Given the description of an element on the screen output the (x, y) to click on. 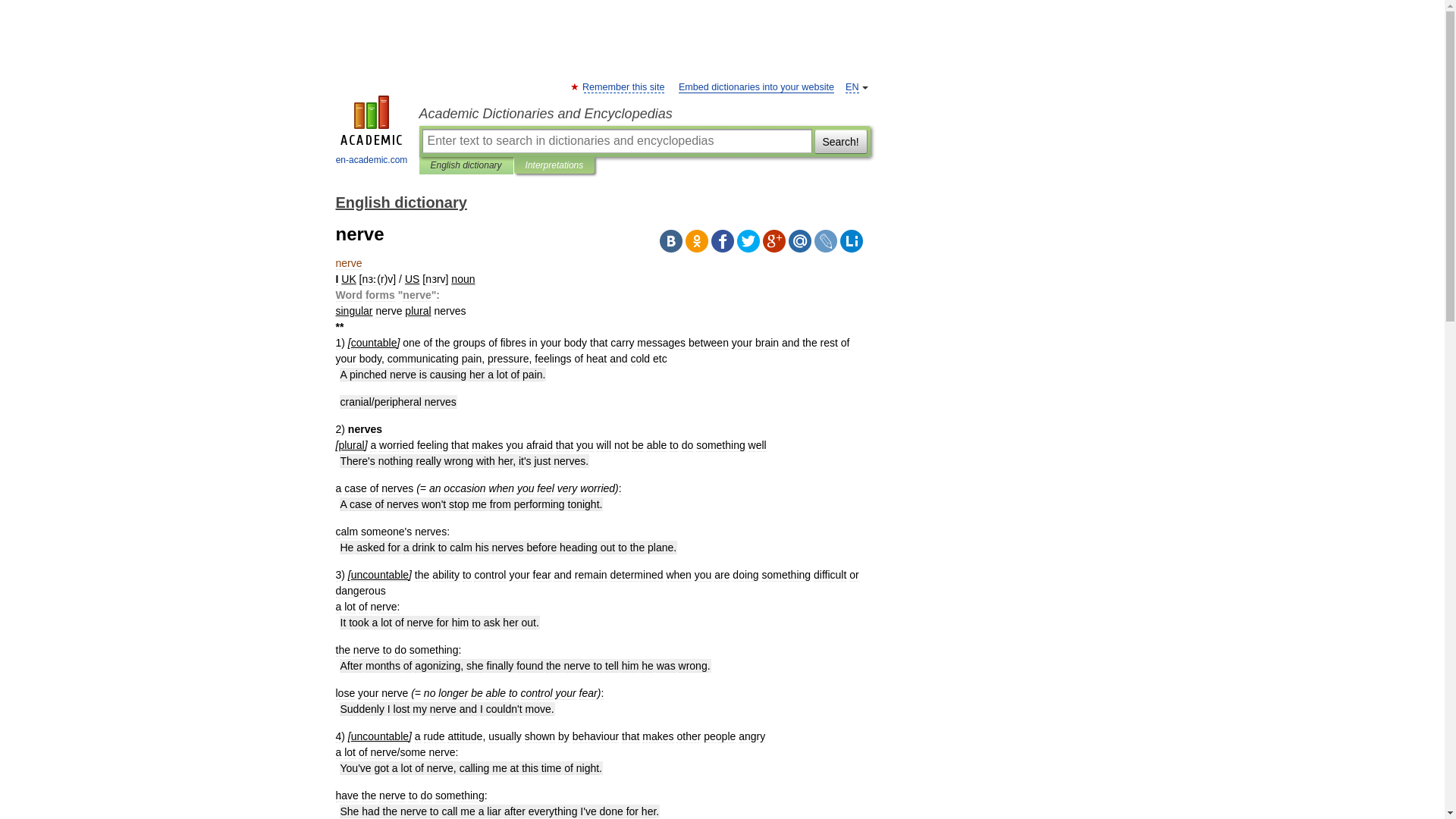
EN (852, 87)
Remember this site (623, 87)
en-academic.com (371, 131)
Embed dictionaries into your website (756, 87)
English dictionary (466, 165)
English dictionary (399, 202)
Interpretations (554, 165)
Search! (840, 140)
Enter text to search in dictionaries and encyclopedias (616, 140)
Academic Dictionaries and Encyclopedias (644, 114)
